Given the description of an element on the screen output the (x, y) to click on. 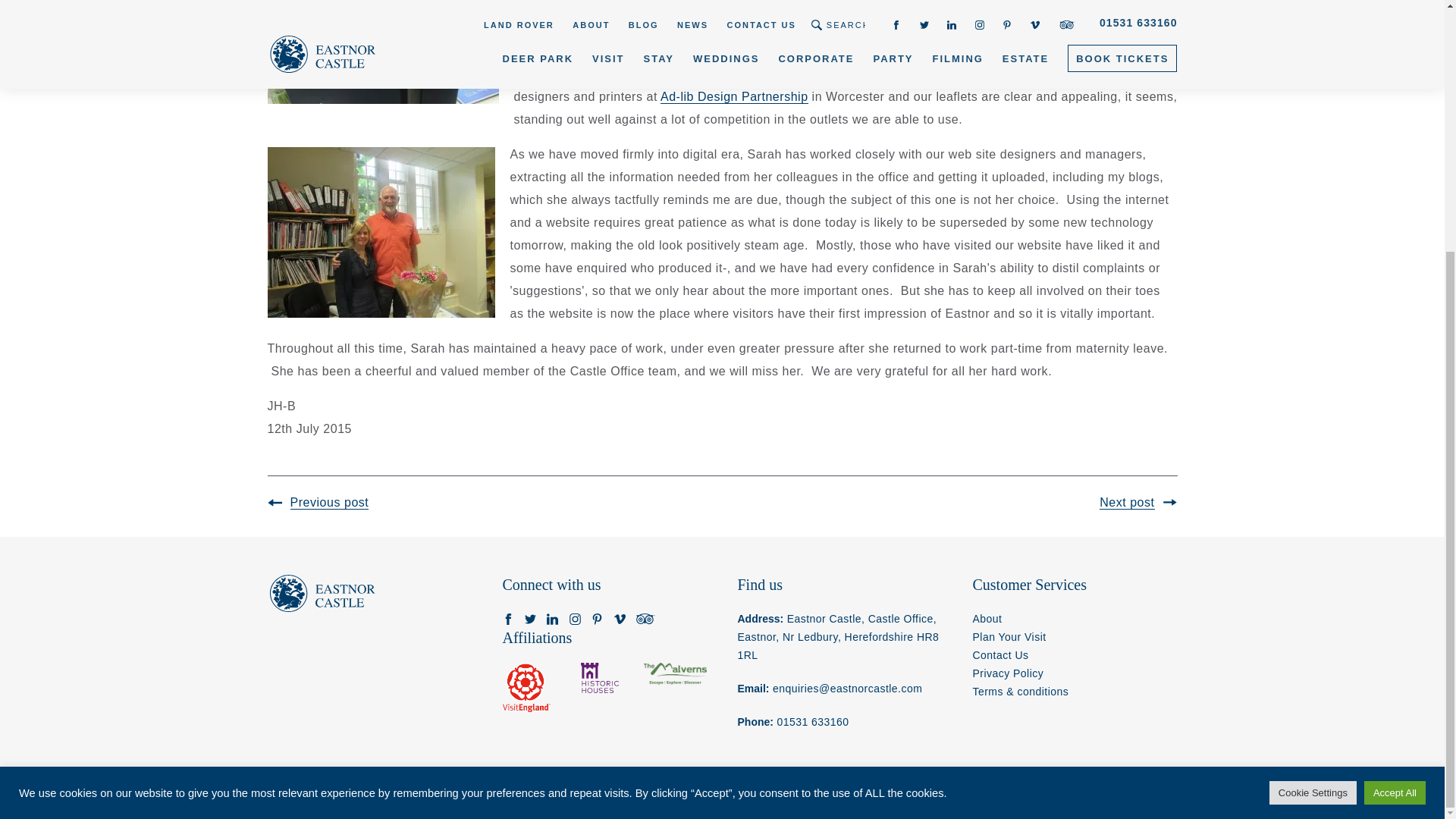
Digital agency in Birmingham (1123, 793)
Digital agency in Birmingham (1171, 793)
facebook (507, 618)
instagram (574, 618)
ad-lib (734, 97)
Eastnor Castle Logo (321, 593)
vimeo (620, 618)
tripadvisor (645, 618)
Digital agency in Birmingham (1171, 794)
twitter (529, 618)
pinterest (596, 618)
linkedin (552, 618)
